Given the description of an element on the screen output the (x, y) to click on. 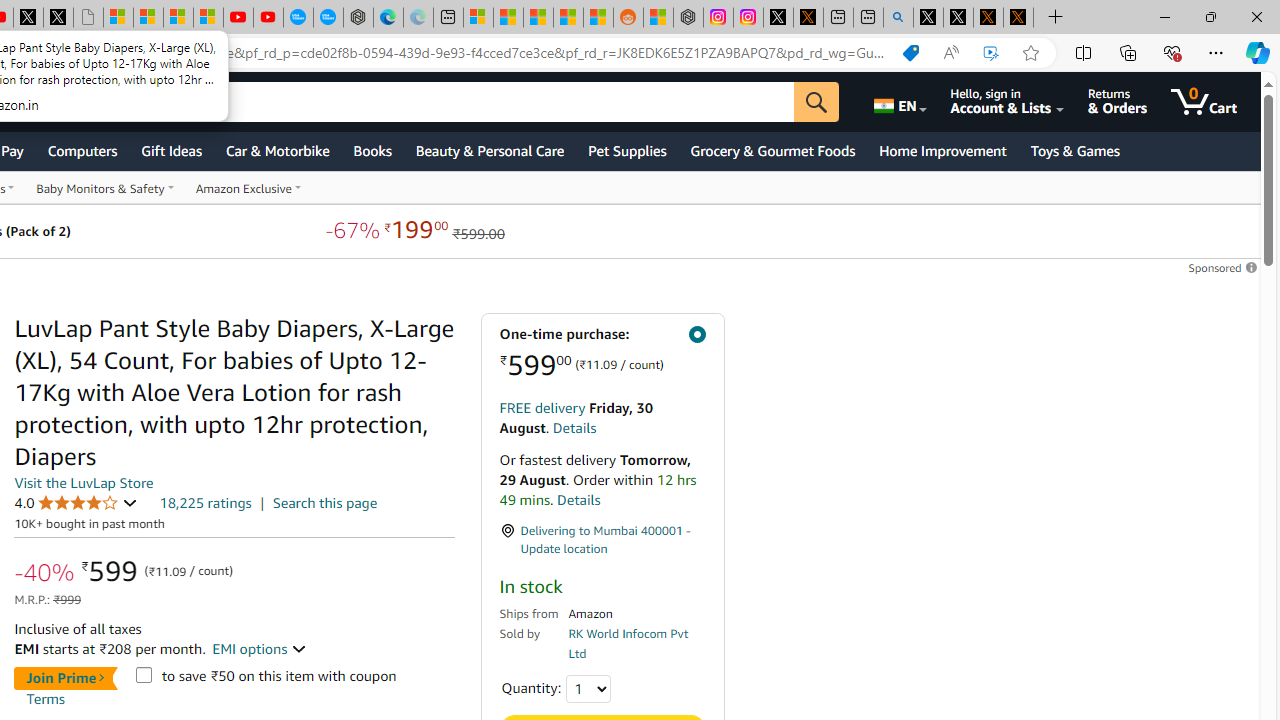
X (57, 17)
GitHub (@github) / X (957, 17)
You have the best price! Shopping in Microsoft Edge (910, 53)
X Privacy Policy (1017, 17)
